Given the description of an element on the screen output the (x, y) to click on. 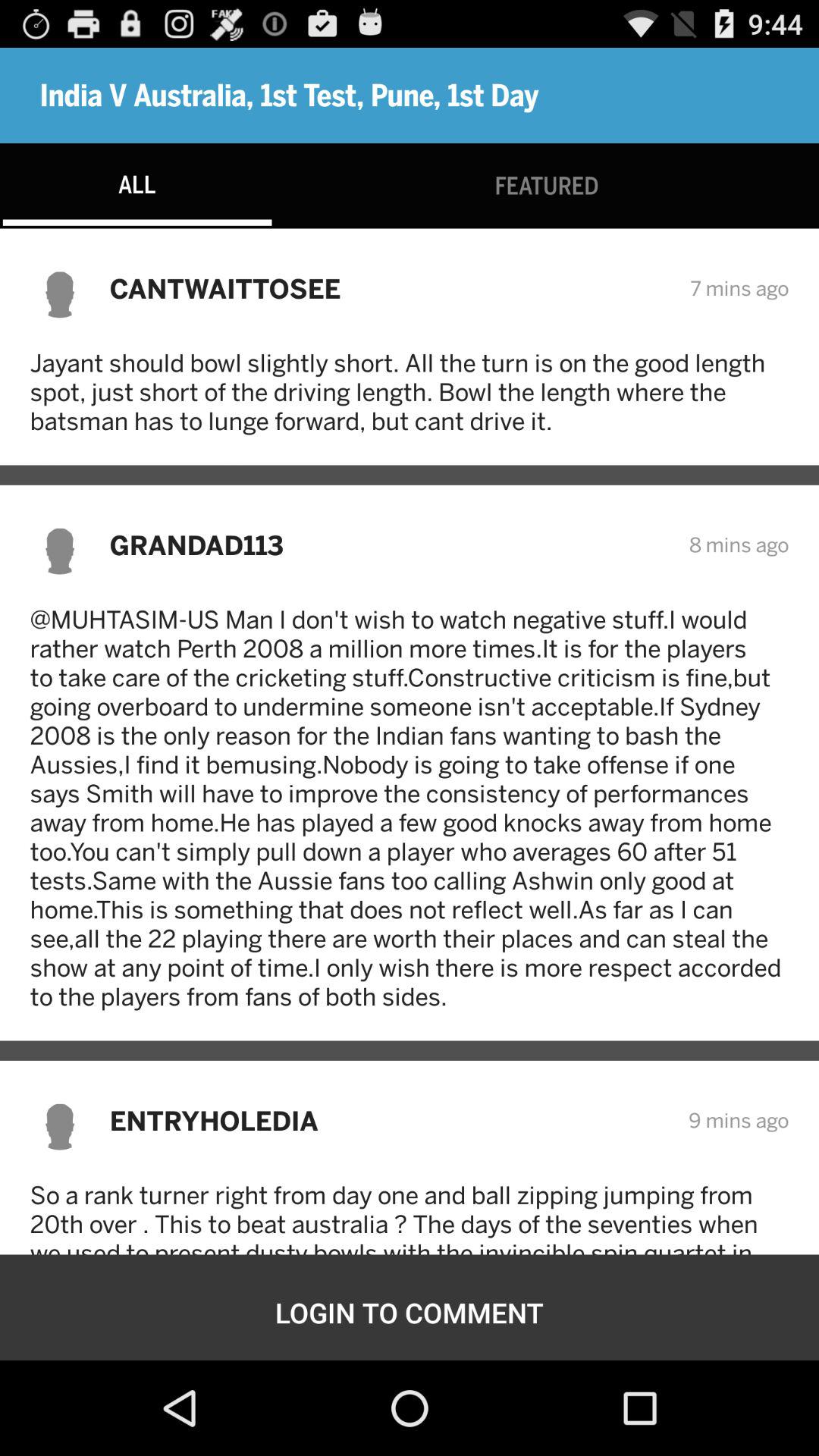
select cantwaittosee item (389, 288)
